Given the description of an element on the screen output the (x, y) to click on. 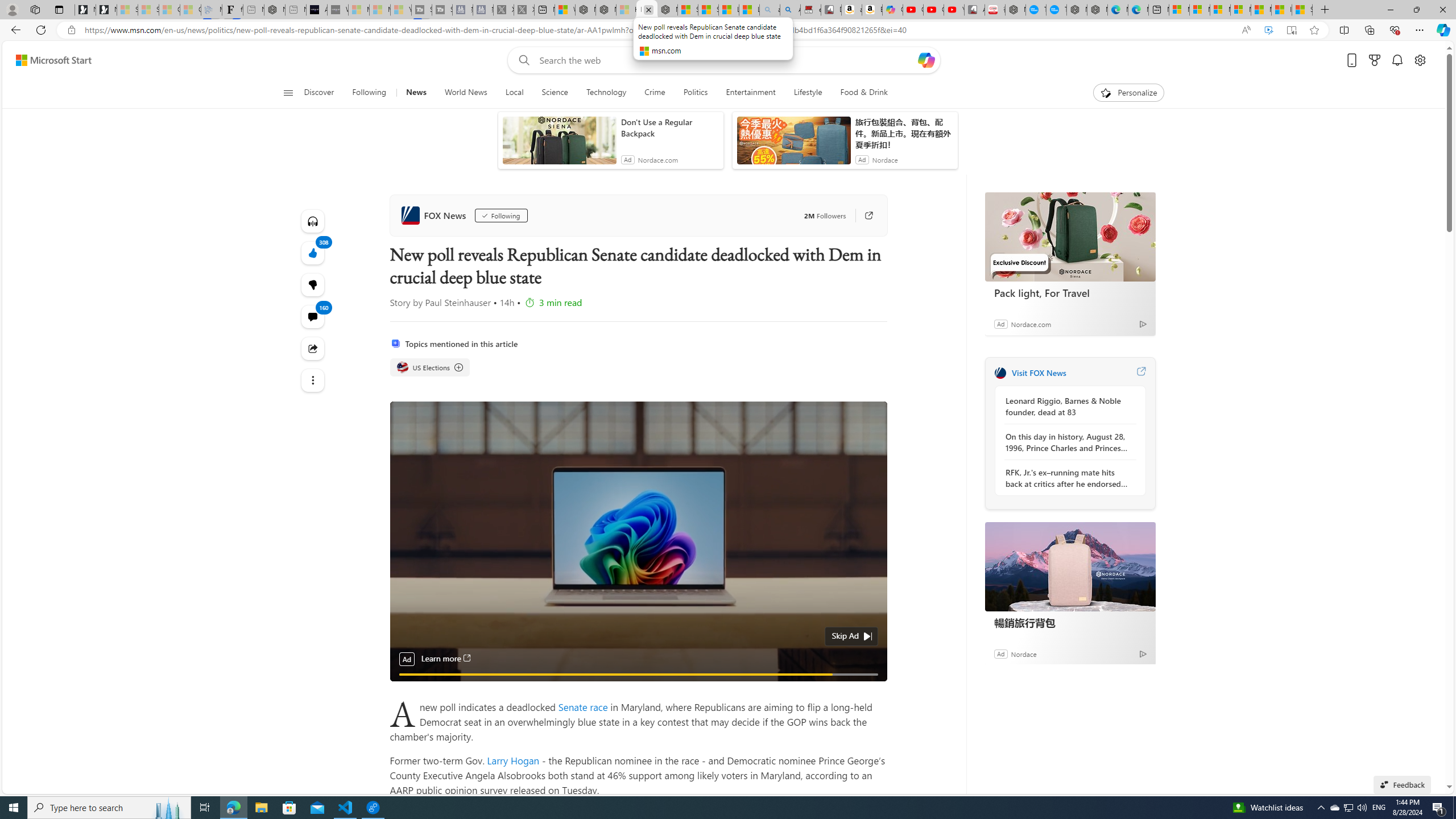
Larry Hogan (513, 759)
Politics (695, 92)
Microsoft Start - Sleeping (379, 9)
Don't Use a Regular Backpack (669, 127)
Personalize (1128, 92)
Senate race  (584, 706)
Nordace - Nordace Siena Is Not An Ordinary Backpack (667, 9)
Share this story (312, 348)
Unmute (871, 688)
